Given the description of an element on the screen output the (x, y) to click on. 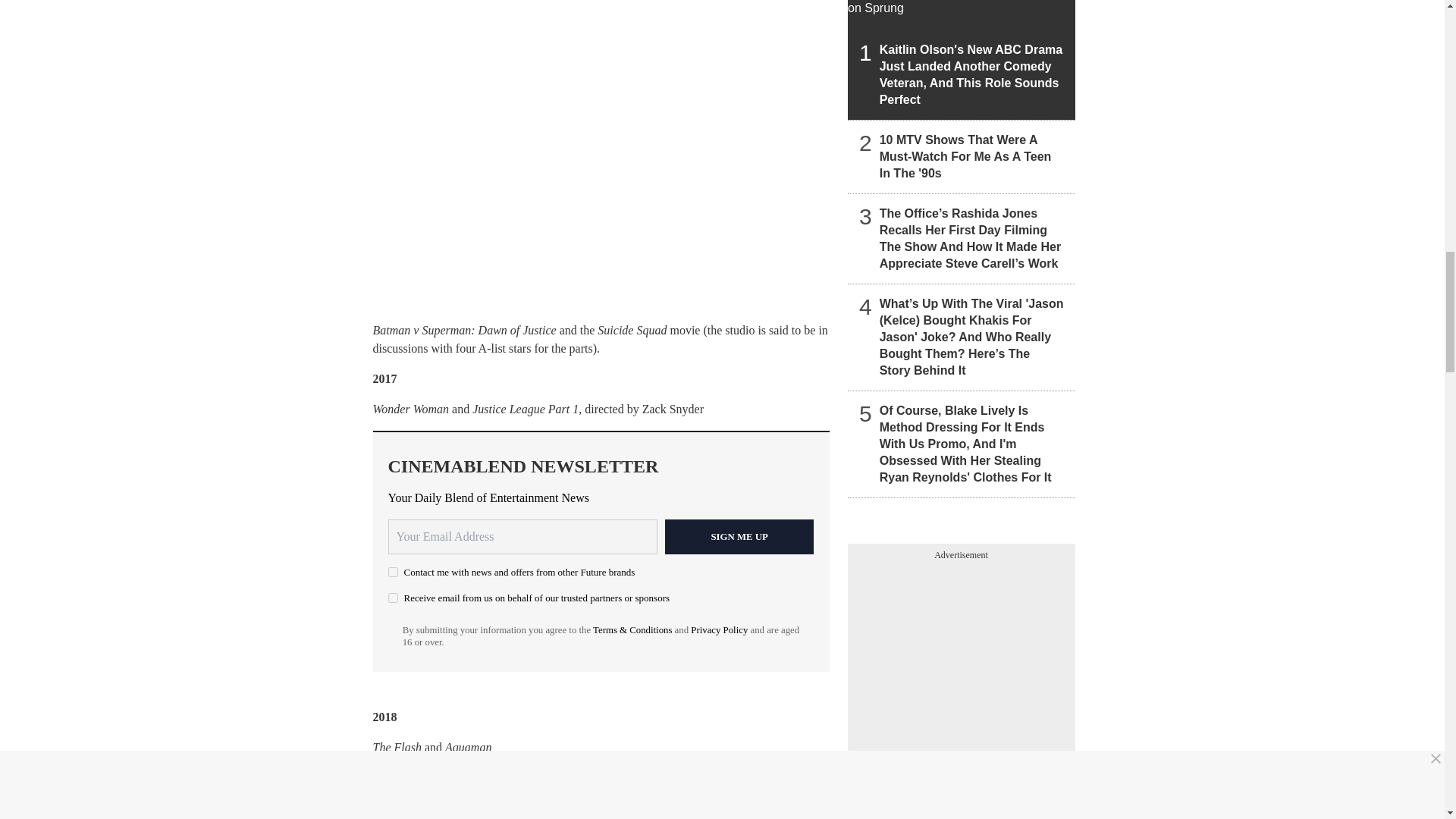
Sign me up (739, 536)
on (392, 597)
on (392, 572)
